Given the description of an element on the screen output the (x, y) to click on. 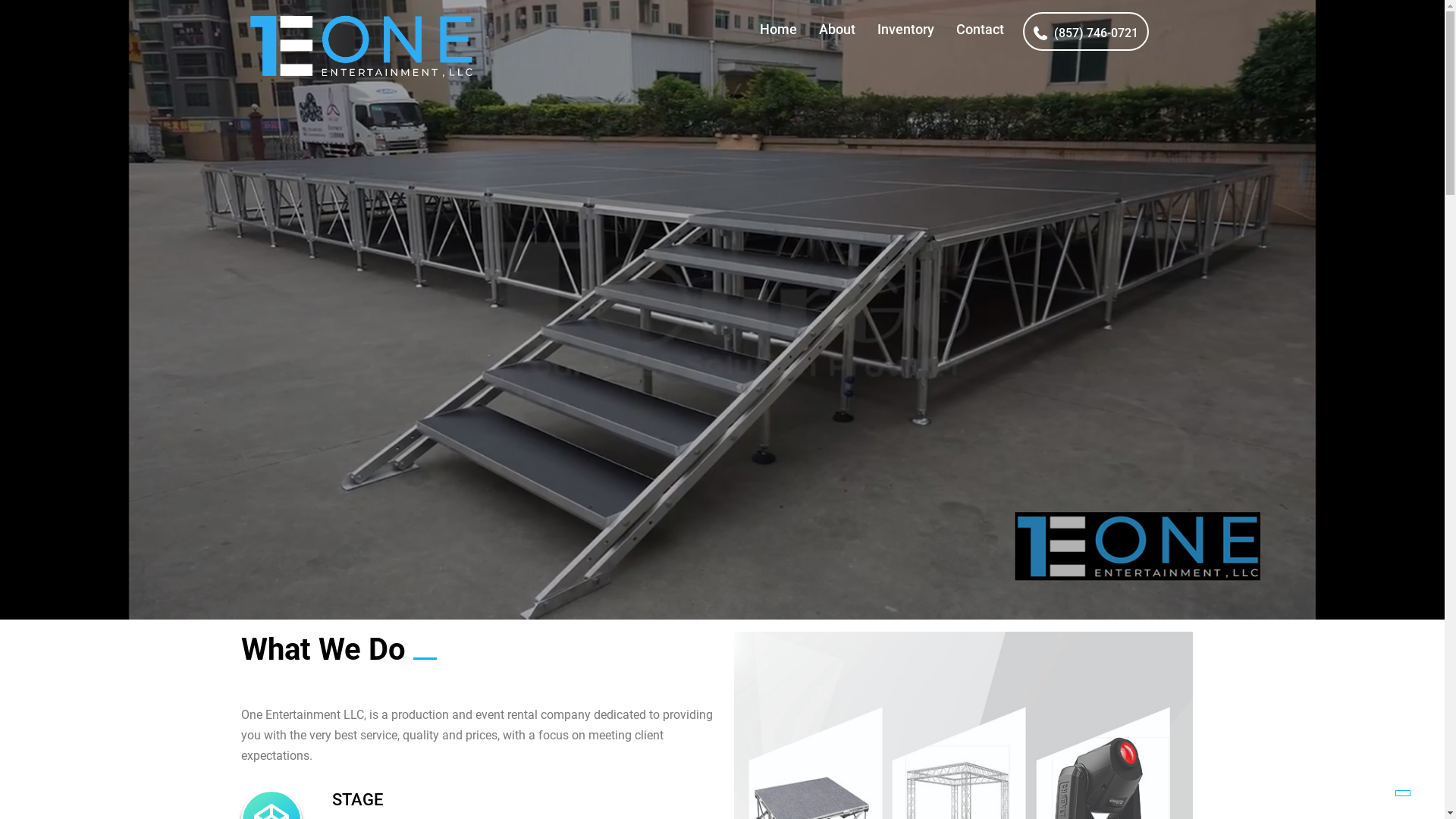
Contact Element type: text (979, 29)
Inventory Element type: text (905, 29)
About Element type: text (836, 29)
Home Element type: text (778, 29)
(857) 746-0721 Element type: text (1085, 31)
